Given the description of an element on the screen output the (x, y) to click on. 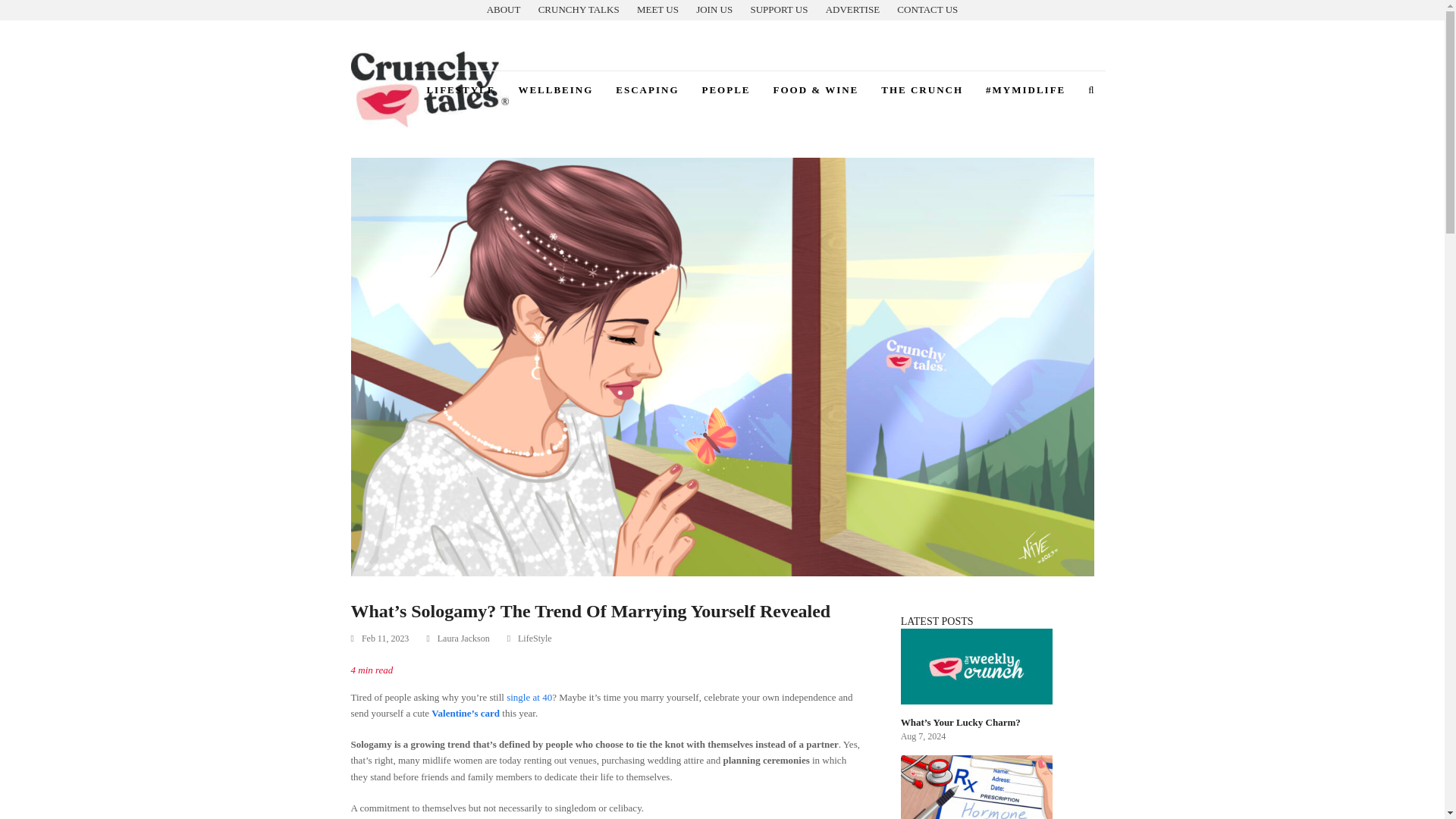
JOIN US (713, 9)
single at 40 (528, 696)
Meet the CrunchytTale Team (657, 9)
CRUNCHY TALKS (579, 9)
SUPPORT US (778, 9)
LifeStyle (534, 639)
Posts by Laura Jackson (463, 638)
CONTACT US (927, 9)
WELLBEING (555, 89)
THE CRUNCH (921, 89)
